Given the description of an element on the screen output the (x, y) to click on. 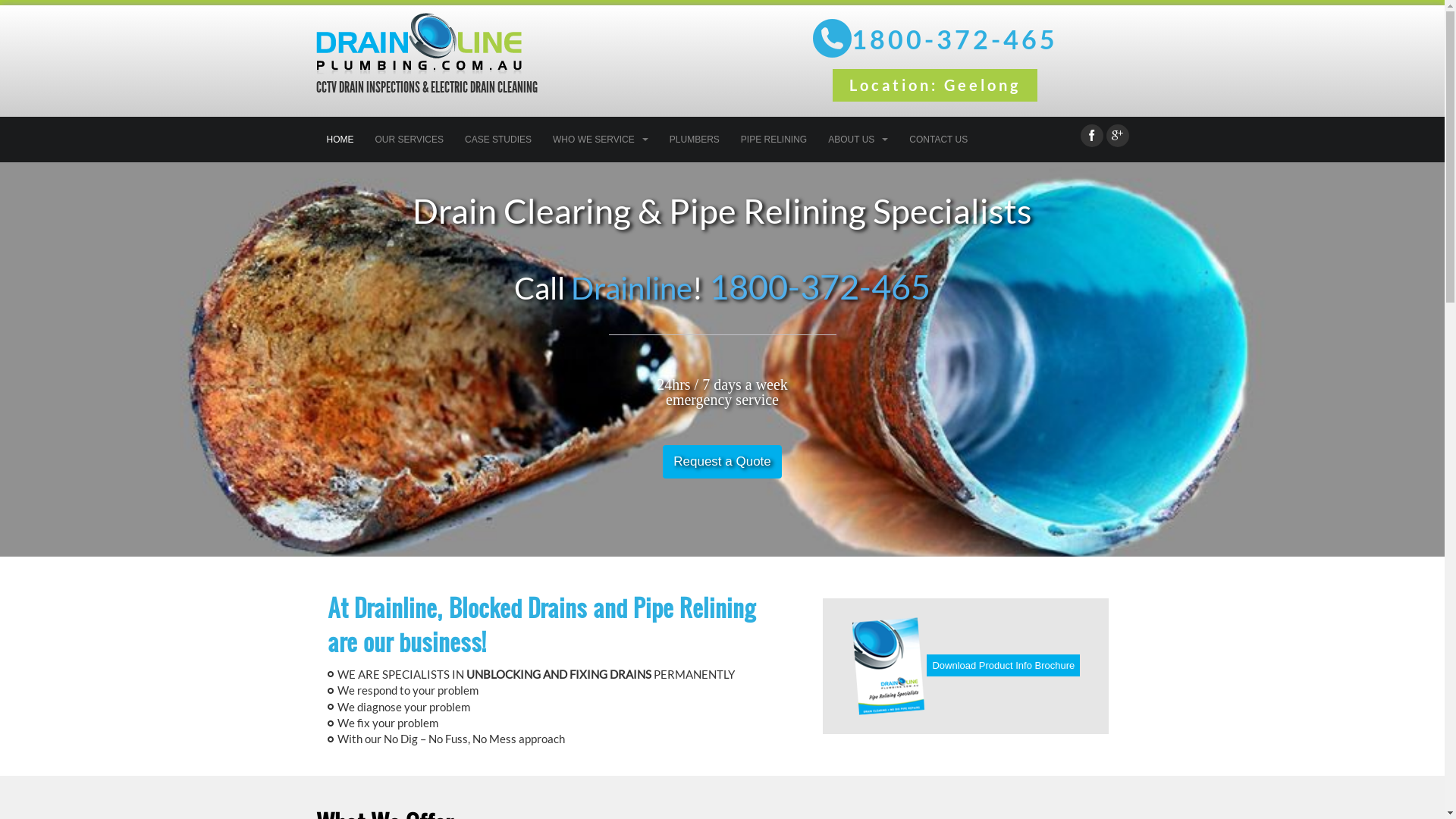
CASE STUDIES Element type: text (498, 139)
PLUMBERS Element type: text (694, 139)
Request a Quote Element type: text (721, 461)
UNBLOCKING AND FIXING DRAINS Element type: text (557, 673)
WHO WE SERVICE Element type: text (600, 139)
CONTACT US Element type: text (938, 139)
1800-372-465
Location: Geelong Element type: text (934, 62)
HOME Element type: text (339, 139)
Download Product Info Brochure Element type: text (965, 666)
1800-372-465 Element type: text (819, 286)
OUR SERVICES Element type: text (408, 139)
PIPE RELINING Element type: text (773, 139)
Location: Geelong Element type: text (934, 85)
ABOUT US Element type: text (857, 139)
